Given the description of an element on the screen output the (x, y) to click on. 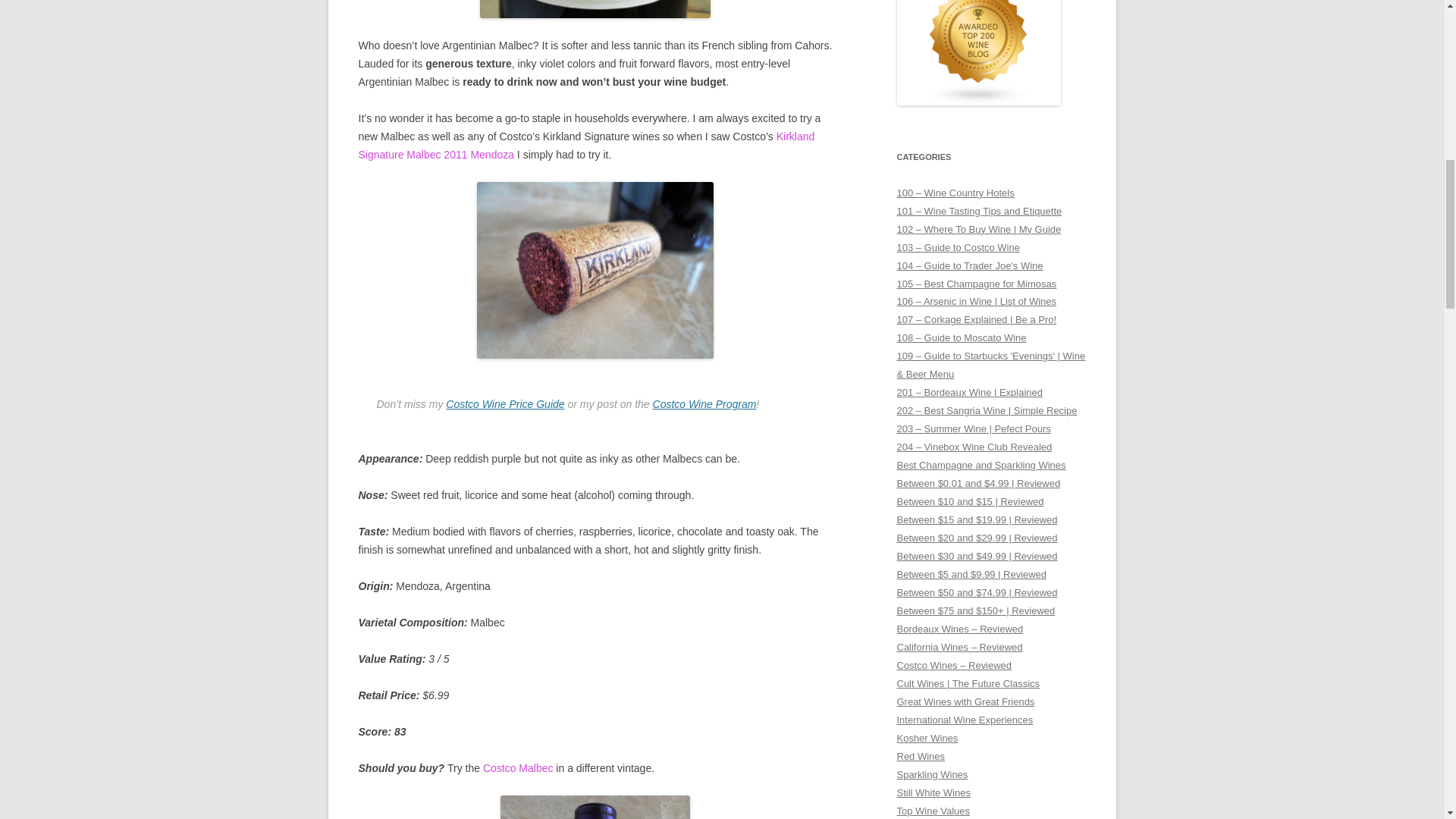
Shopping for wine at Costco? (704, 404)
Wine blogs (977, 101)
Costco Wine Prices (504, 404)
Costco Wine Program (704, 404)
Costco Wine Price Guide (504, 404)
